Given the description of an element on the screen output the (x, y) to click on. 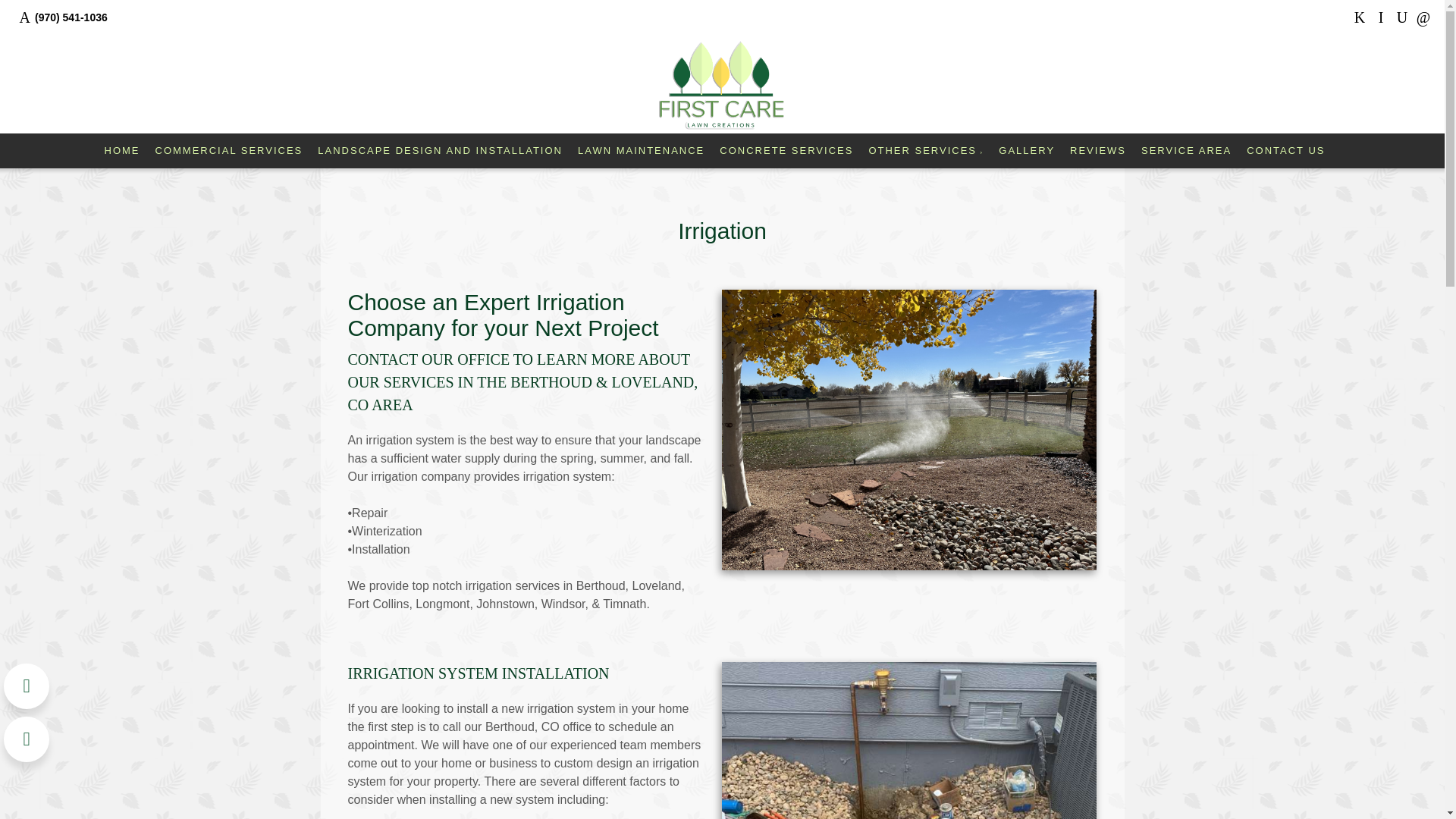
Instagram (1380, 17)
LAWN MAINTENANCE (641, 150)
Facebook (1359, 17)
CONTACT US (1285, 150)
Angie's List (1401, 17)
COMMERCIAL SERVICES (228, 150)
Google (1423, 17)
SERVICE AREA (1186, 150)
REVIEWS (1097, 150)
LANDSCAPE DESIGN AND INSTALLATION (439, 150)
GALLERY (1026, 150)
CONCRETE SERVICES (786, 150)
HOME (121, 150)
